Given the description of an element on the screen output the (x, y) to click on. 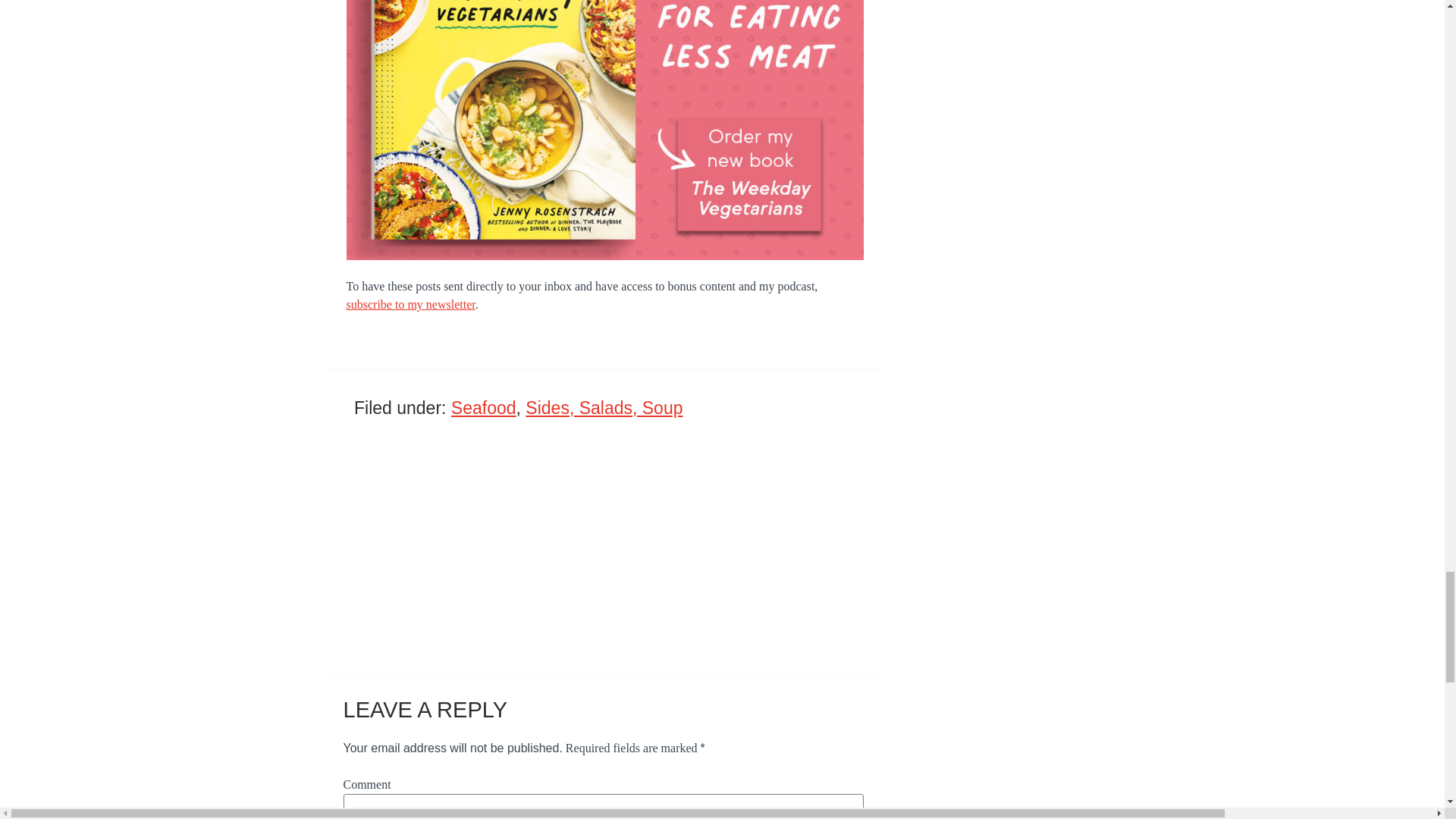
Sides, Salads, Soup (603, 407)
Seafood (483, 407)
subscribe to my newsletter (410, 304)
